Given the description of an element on the screen output the (x, y) to click on. 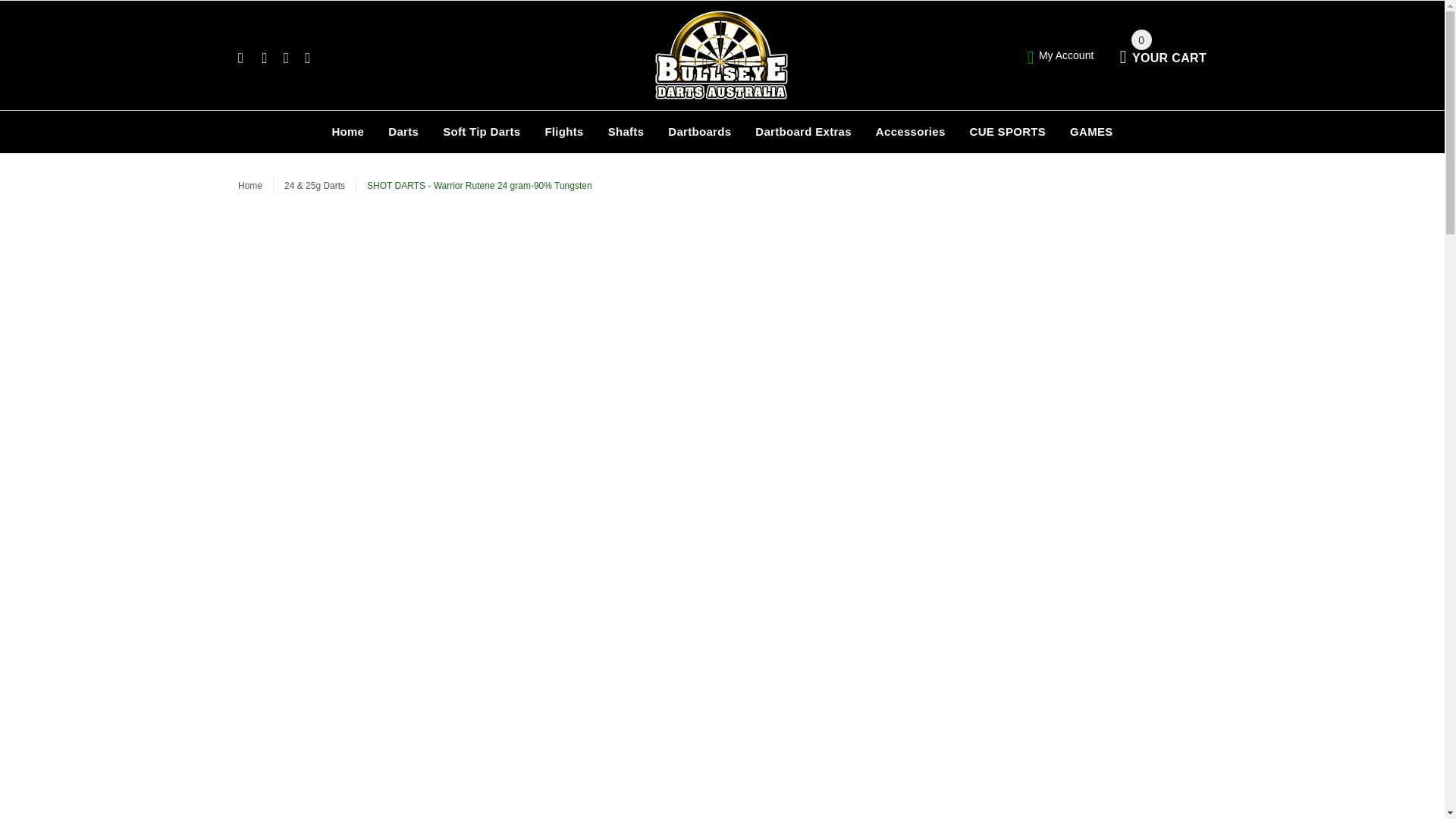
My Account (1060, 54)
Home (346, 131)
